Given the description of an element on the screen output the (x, y) to click on. 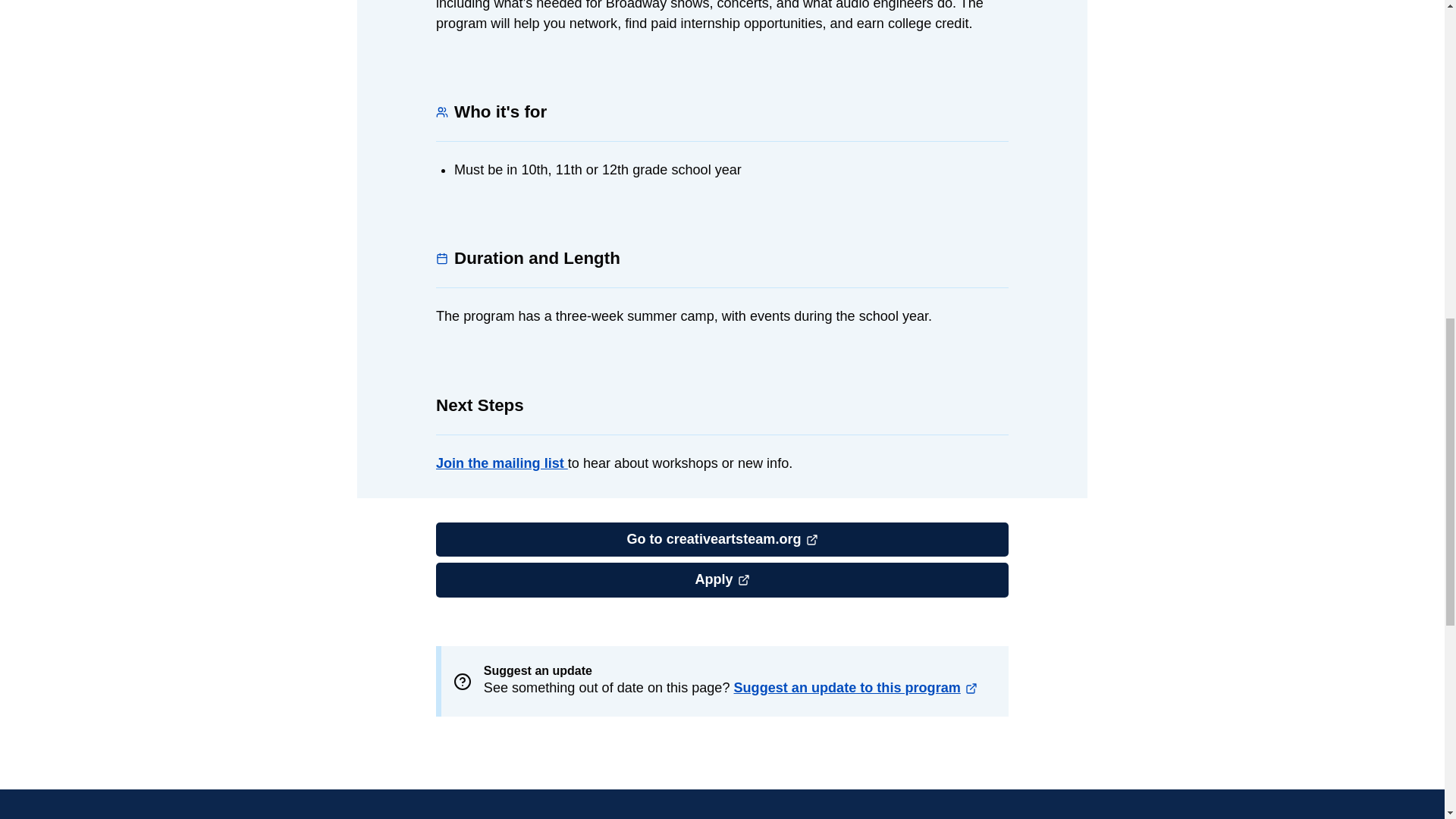
Suggest an update to this program (857, 688)
Duration and Length (441, 258)
Who it's for (441, 111)
Who it's for (441, 111)
Join the mailing list (501, 462)
Duration and Length (722, 579)
Go to creativeartsteam.org (441, 258)
